Given the description of an element on the screen output the (x, y) to click on. 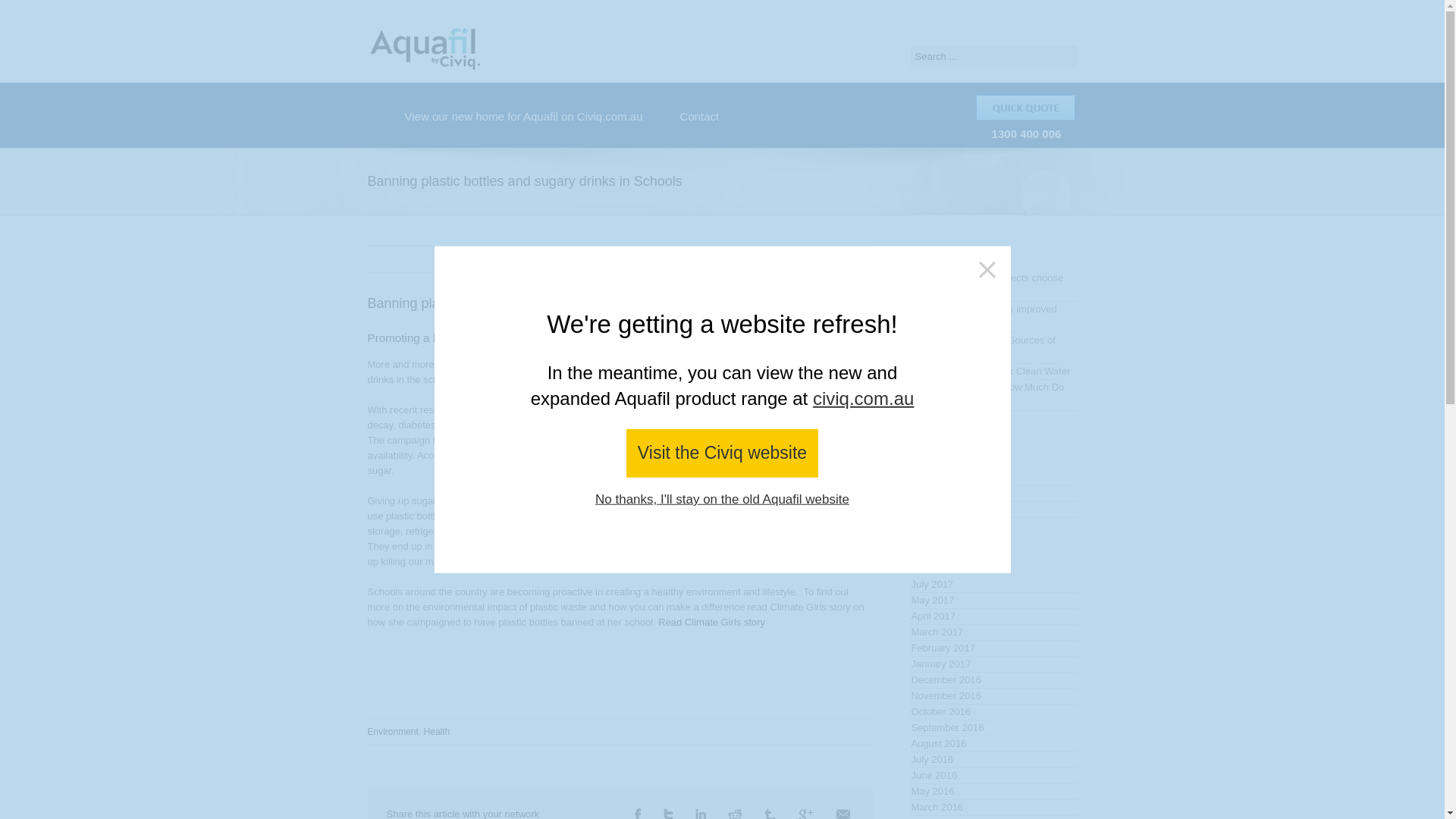
What Are The Natural Sources of Water? (994, 347)
Climate Girl (711, 622)
July 2016 (994, 760)
Health (994, 509)
Twitter (667, 813)
Health (436, 731)
Email (842, 813)
Next (856, 258)
LinkedIn (700, 813)
Previous (802, 258)
Search ... (993, 55)
Quick Quote (1024, 107)
Banning plastic bottles and sugary drinks in Schools (523, 303)
March 2017 (994, 632)
February 2017 (994, 648)
